Given the description of an element on the screen output the (x, y) to click on. 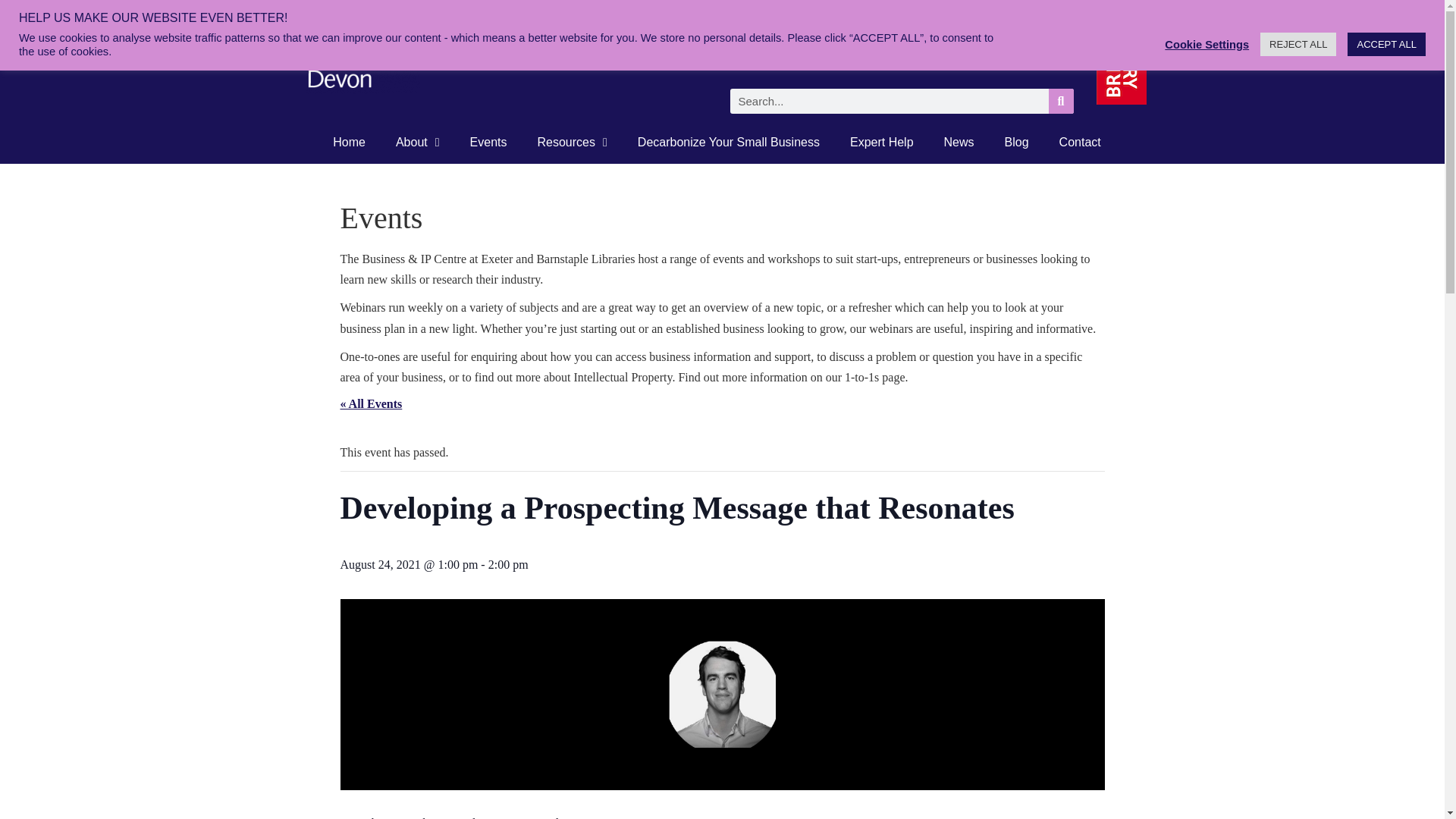
Resources (571, 142)
Contact (1079, 142)
Events (488, 142)
Decarbonize Your Small Business (728, 142)
Expert Help (881, 142)
Home (348, 142)
News (959, 142)
Blog (1016, 142)
About (417, 142)
